Given the description of an element on the screen output the (x, y) to click on. 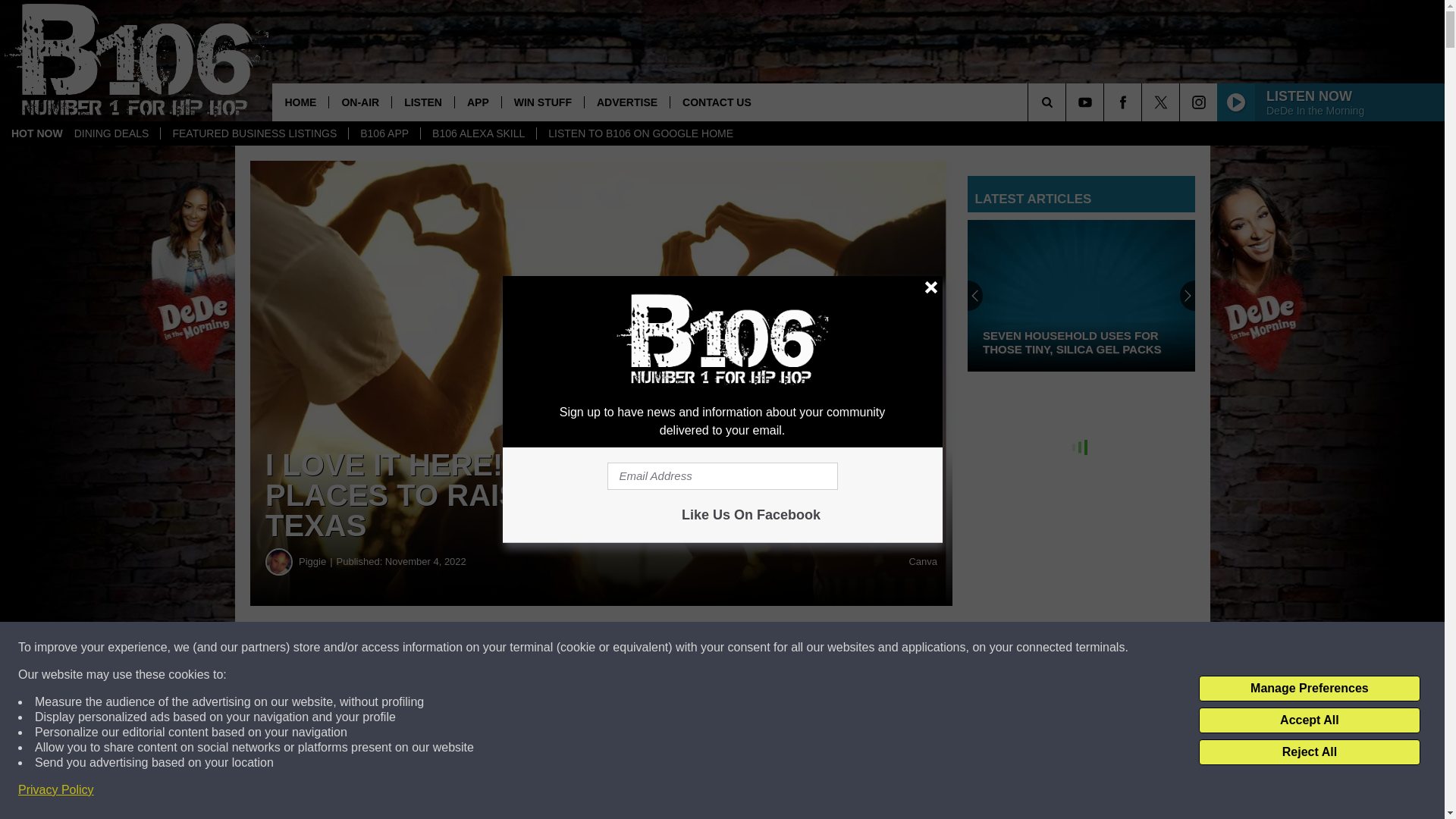
Share on Twitter (741, 647)
Manage Preferences (1309, 688)
HOME (300, 102)
B106 ALEXA SKILL (477, 133)
ADVERTISE (626, 102)
SEARCH (1068, 102)
Share on Facebook (460, 647)
CONTACT US (715, 102)
Email Address (722, 475)
DINING DEALS (111, 133)
LISTEN (422, 102)
Reject All (1309, 751)
FEATURED BUSINESS LISTINGS (253, 133)
B106 APP (383, 133)
Privacy Policy (55, 789)
